Given the description of an element on the screen output the (x, y) to click on. 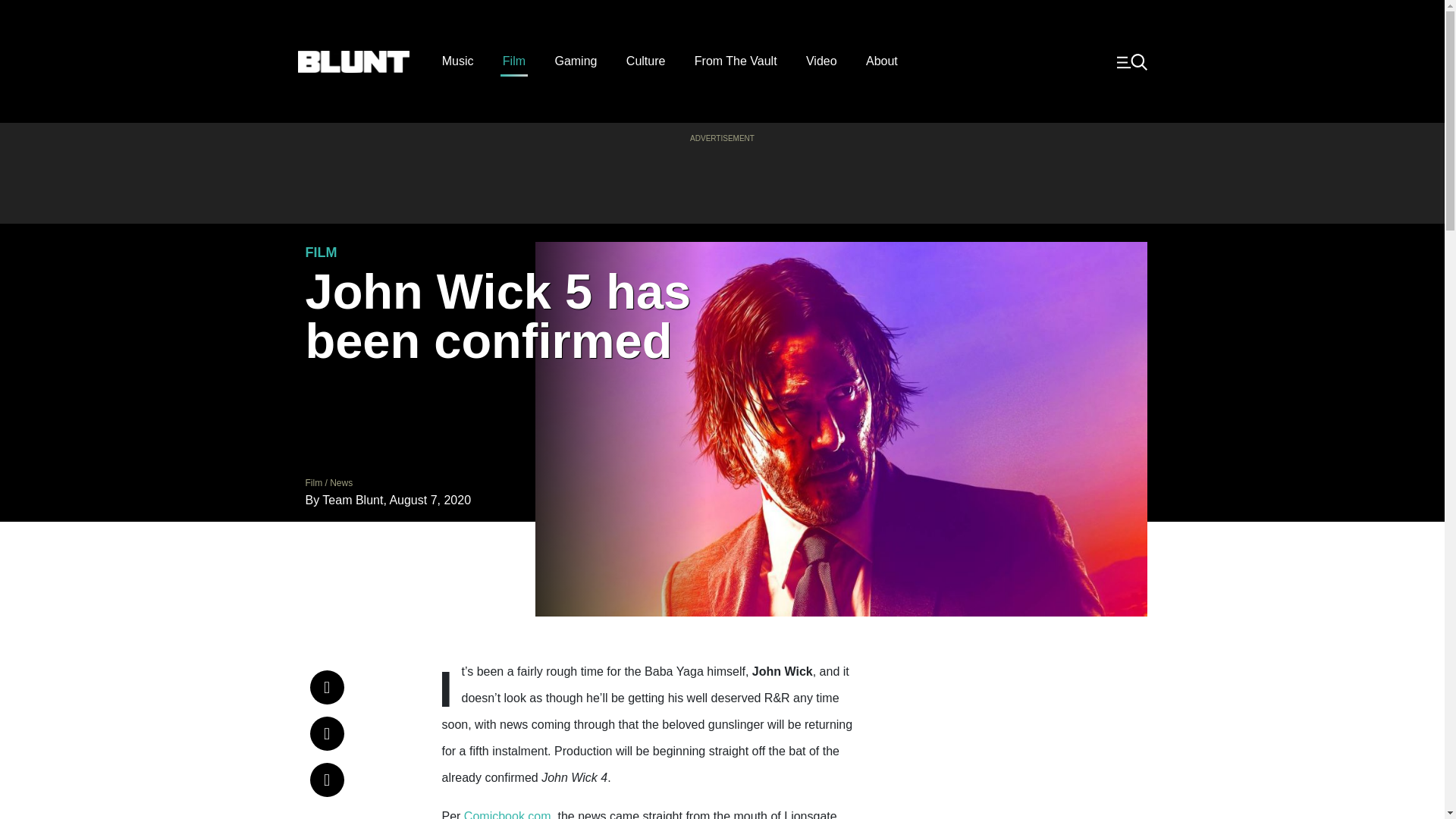
About (881, 61)
Gaming (575, 61)
August 7, 2020 (429, 499)
From The Vault (735, 61)
Music (457, 61)
Comicbook.com (507, 814)
Culture (645, 61)
Culture (645, 61)
Film (513, 61)
From The Vault (735, 61)
Team Blunt (351, 499)
Film (513, 61)
Video (821, 61)
About (881, 61)
News (341, 482)
